Given the description of an element on the screen output the (x, y) to click on. 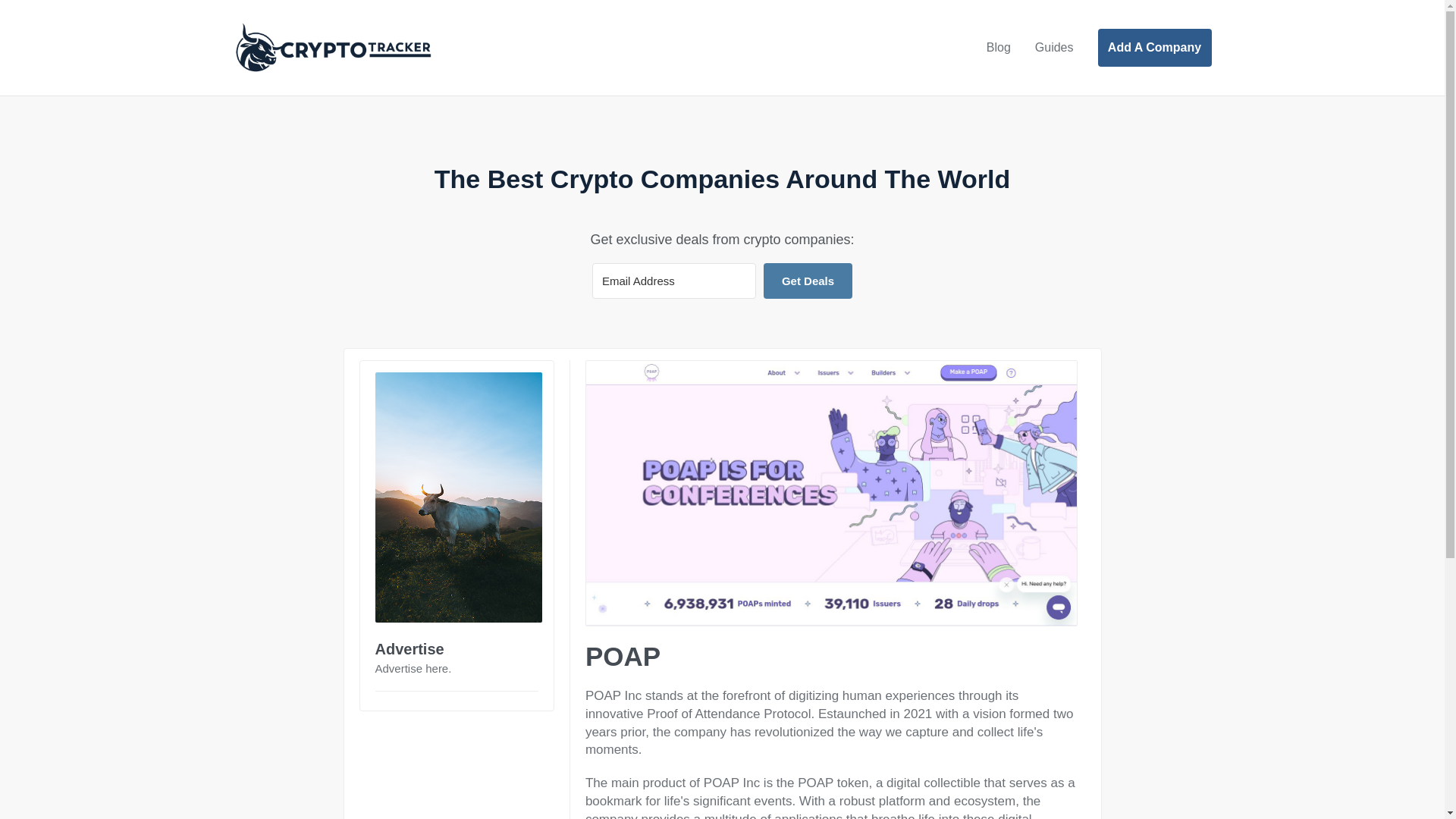
Add A Company (1154, 47)
Blog (998, 47)
Guides (1054, 47)
Advertise (409, 648)
Get Deals (806, 280)
